Given the description of an element on the screen output the (x, y) to click on. 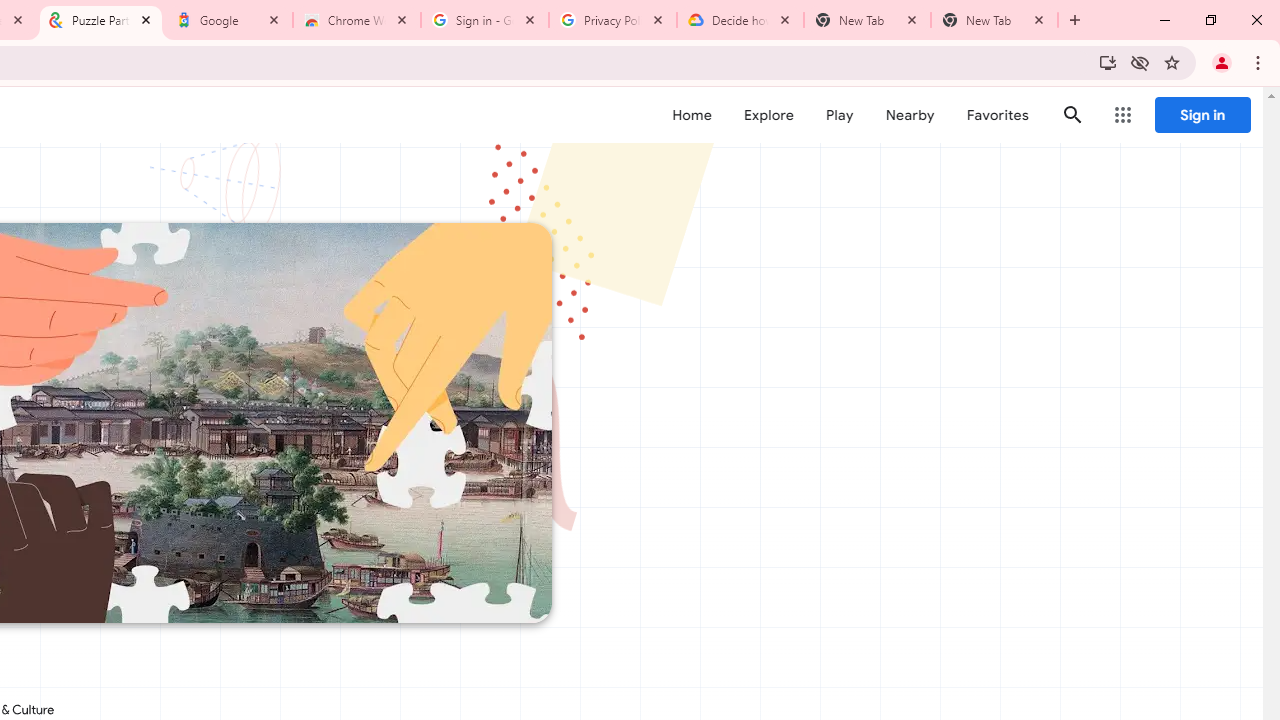
New Tab (994, 20)
Explore (768, 115)
Favorites (996, 115)
Google (229, 20)
